Given the description of an element on the screen output the (x, y) to click on. 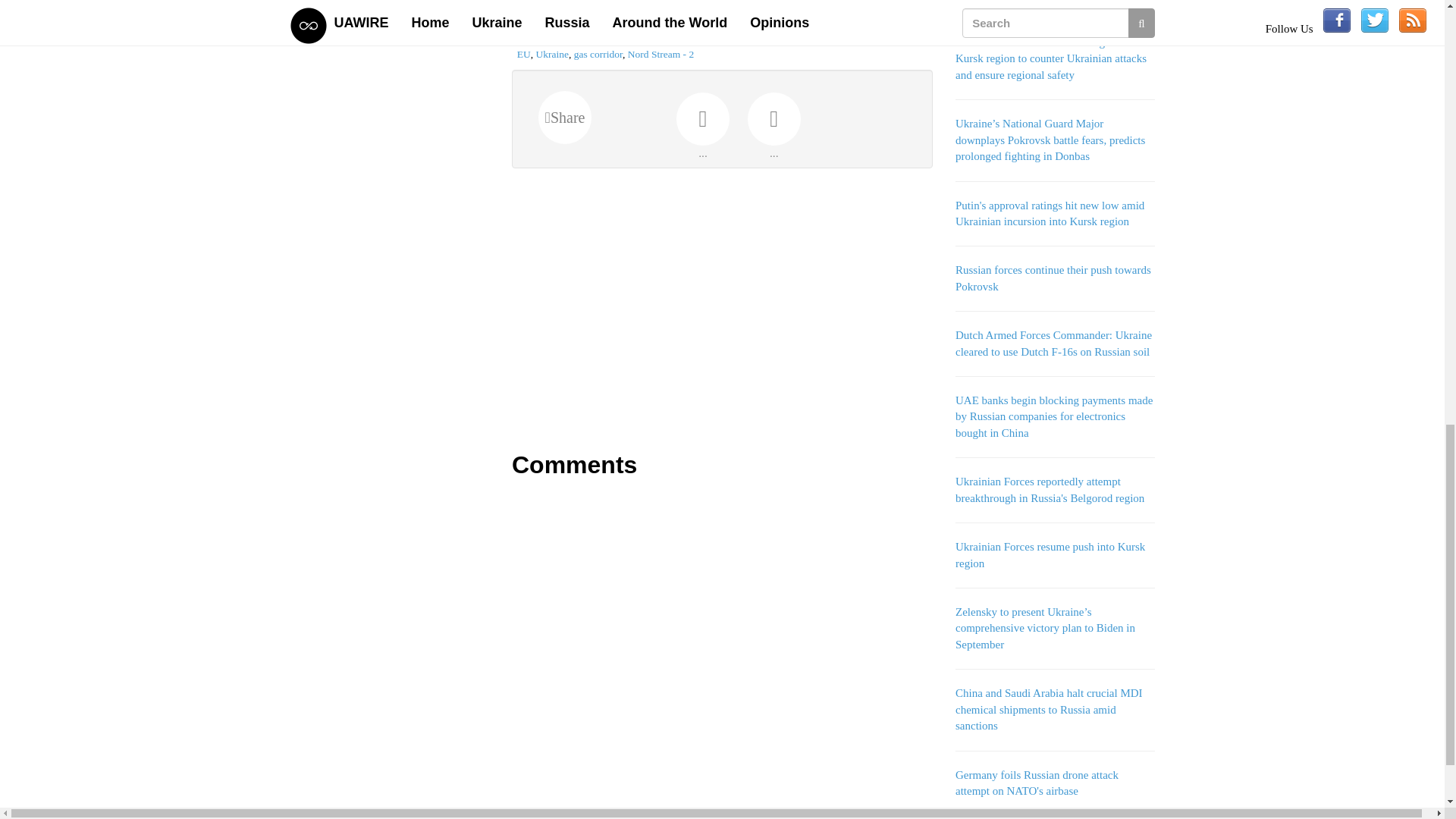
Advertisement (722, 309)
gas corridor (598, 53)
Ukraine (551, 53)
Nord Stream - 2 (660, 53)
Russian forces continue their push towards Pokrovsk (1053, 277)
EU (523, 53)
